Given the description of an element on the screen output the (x, y) to click on. 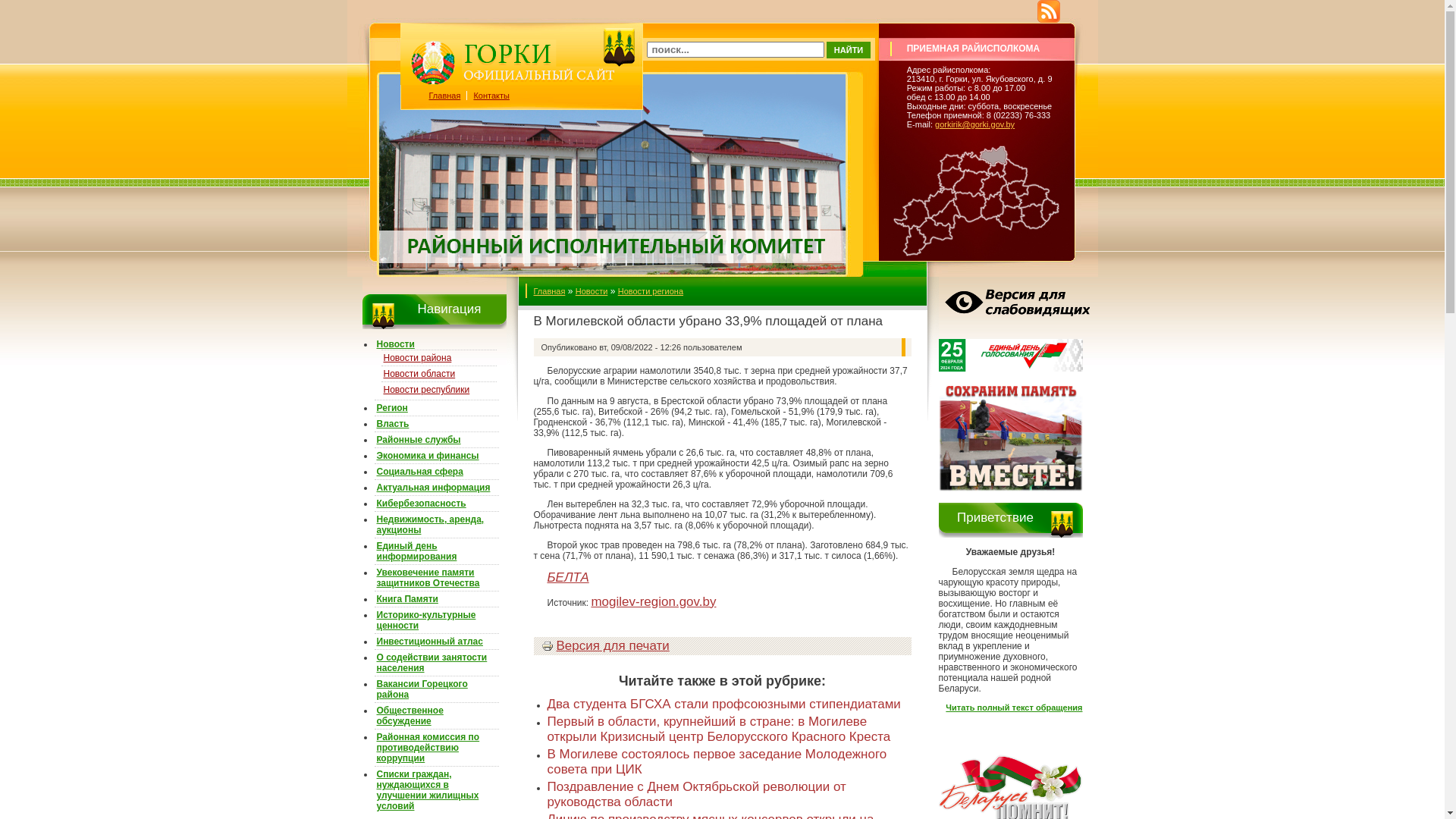
gorkirik@gorki.gov.by Element type: text (974, 123)
mogilev-region.gov.by Element type: text (652, 601)
